Given the description of an element on the screen output the (x, y) to click on. 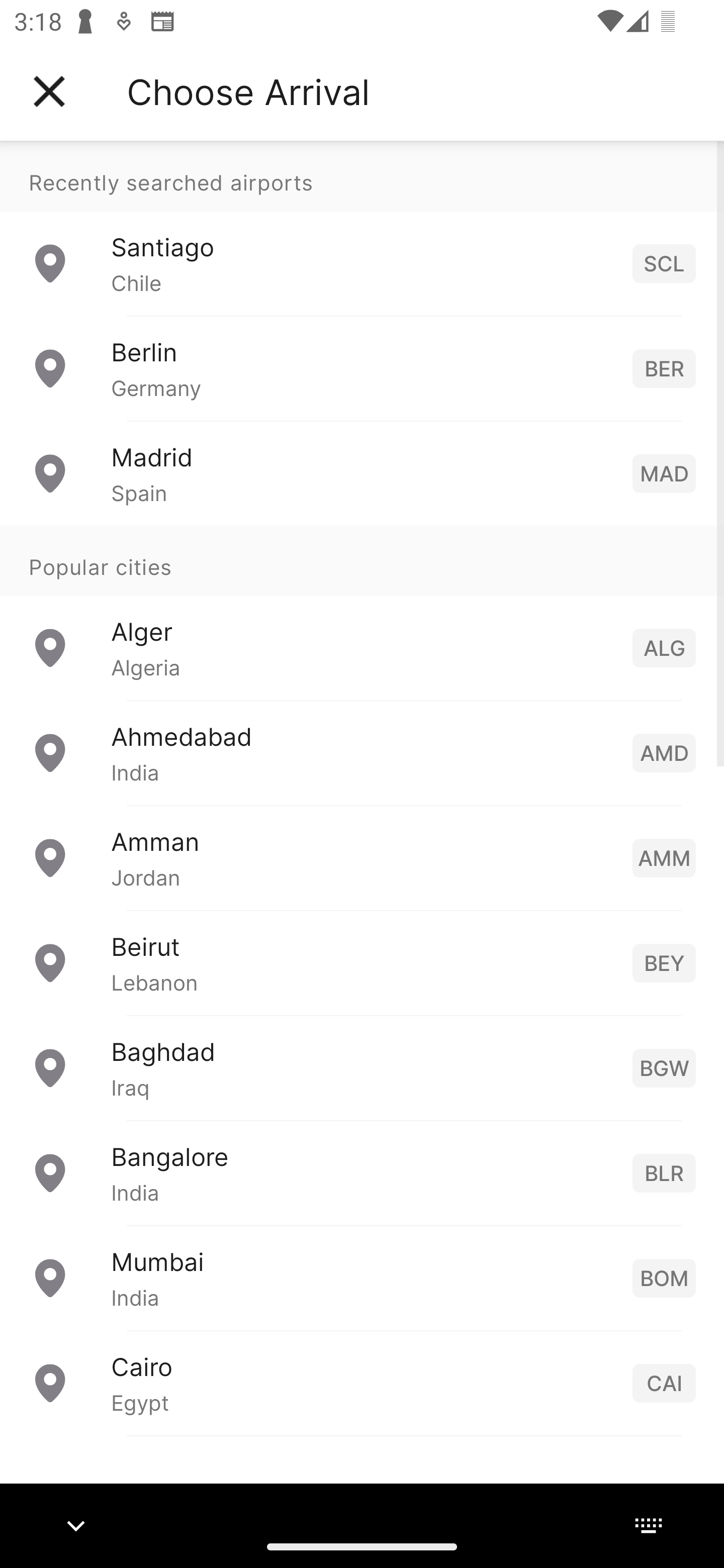
Choose Arrival (247, 91)
Recently searched airports Santiago Chile SCL (362, 228)
Recently searched airports (362, 176)
Berlin Germany BER (362, 367)
Madrid Spain MAD (362, 472)
Popular cities Alger Algeria ALG (362, 612)
Popular cities (362, 560)
Ahmedabad India AMD (362, 751)
Amman Jordan AMM (362, 856)
Beirut Lebanon BEY (362, 961)
Baghdad Iraq BGW (362, 1066)
Bangalore India BLR (362, 1171)
Mumbai India BOM (362, 1276)
Cairo Egypt CAI (362, 1381)
